Given the description of an element on the screen output the (x, y) to click on. 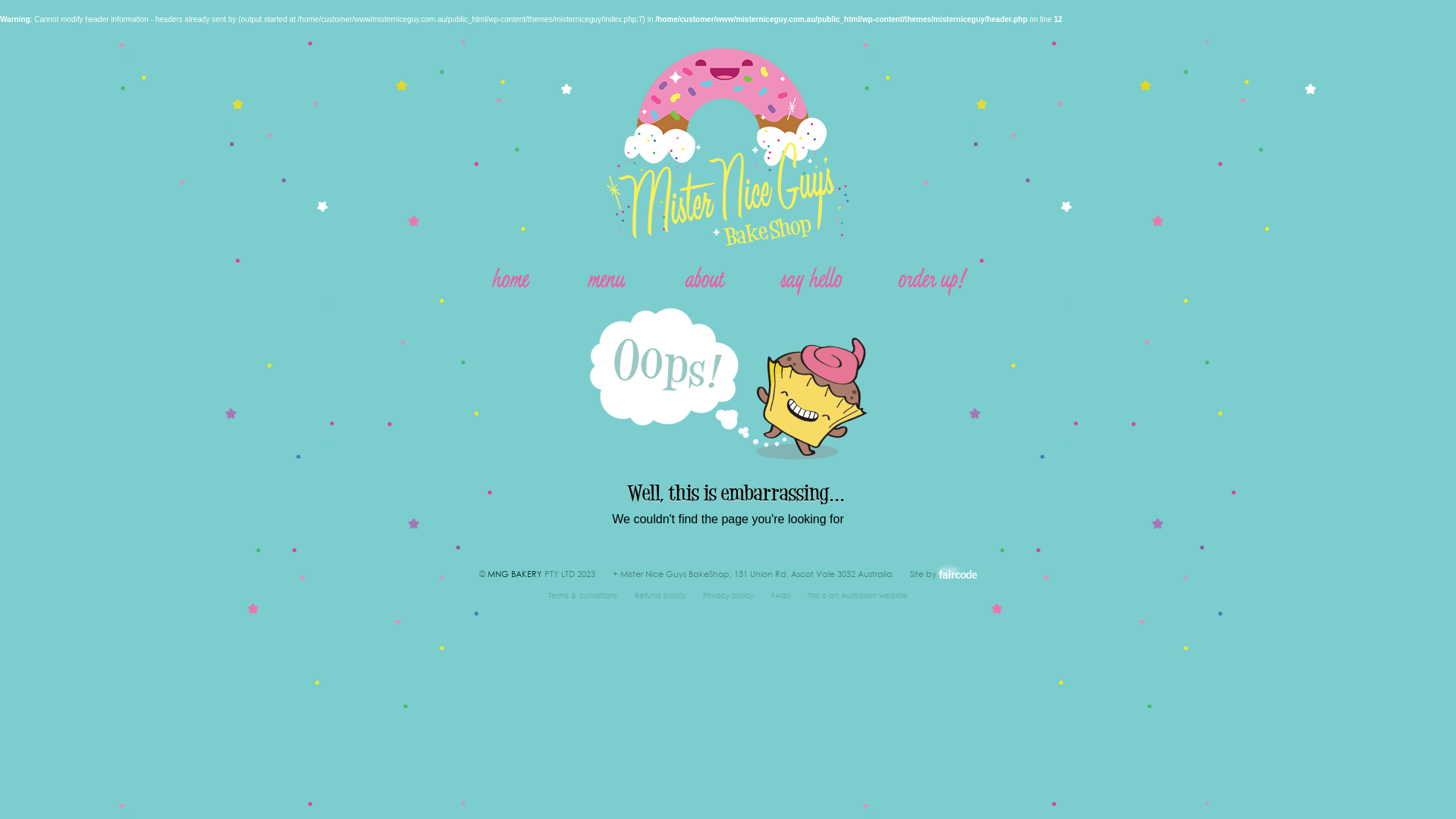
about Element type: text (703, 278)
MNG BAKERY Element type: text (514, 573)
Terms & conditions Element type: text (582, 594)
menu Element type: text (605, 278)
home Element type: text (509, 278)
order up! Element type: text (930, 278)
FAQs Element type: text (780, 594)
say hello Element type: text (810, 278)
Refund policy Element type: text (659, 594)
faircode Element type: text (957, 573)
Privacy policy Element type: text (727, 594)
